Given the description of an element on the screen output the (x, y) to click on. 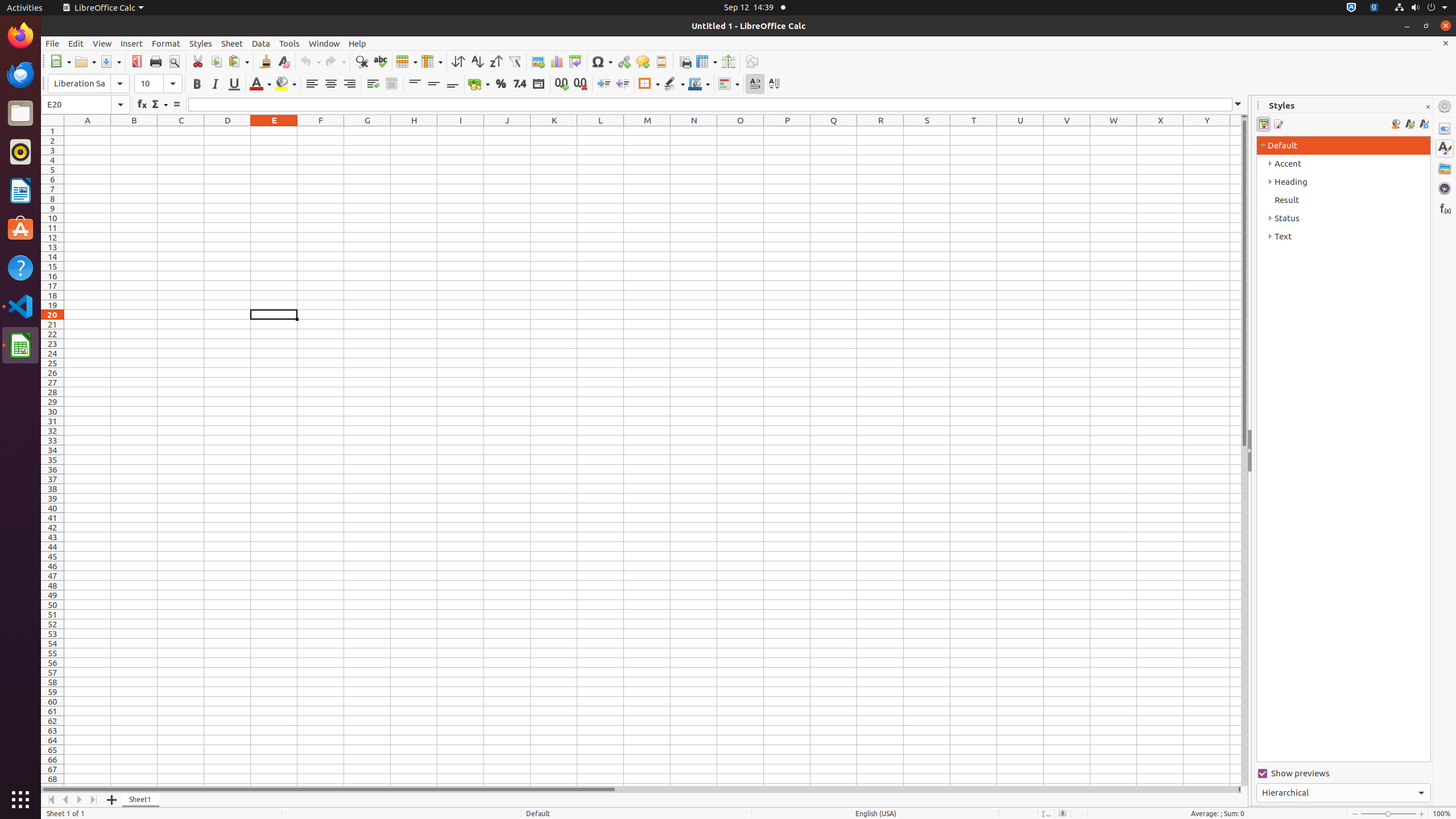
LibreOffice Calc Element type: menu (102, 7)
Horizontal scroll bar Element type: scroll-bar (639, 789)
System Element type: menu (1420, 7)
Border Style Element type: push-button (673, 83)
Formula Element type: push-button (176, 104)
